Given the description of an element on the screen output the (x, y) to click on. 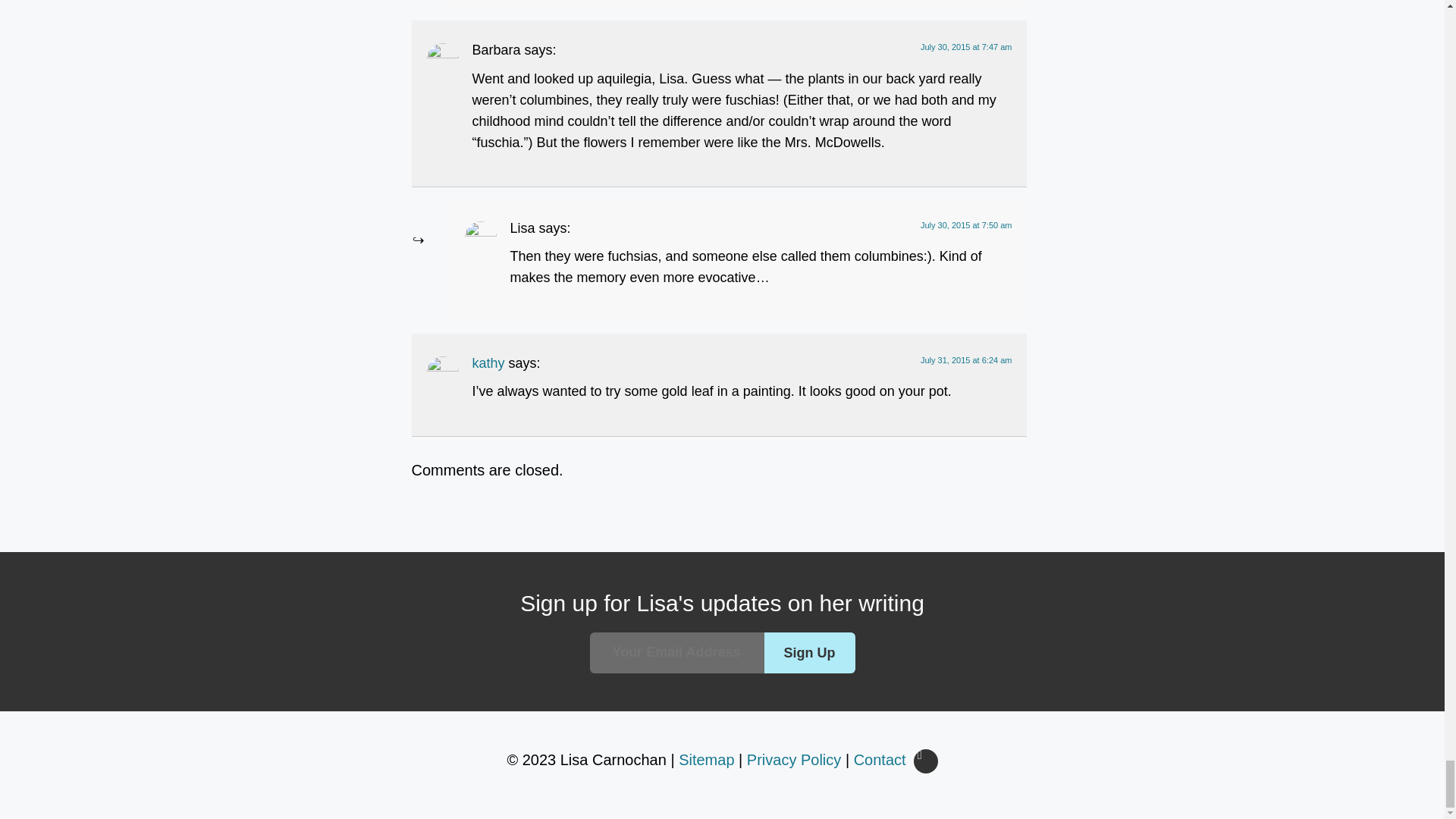
Sign Up (810, 652)
